Given the description of an element on the screen output the (x, y) to click on. 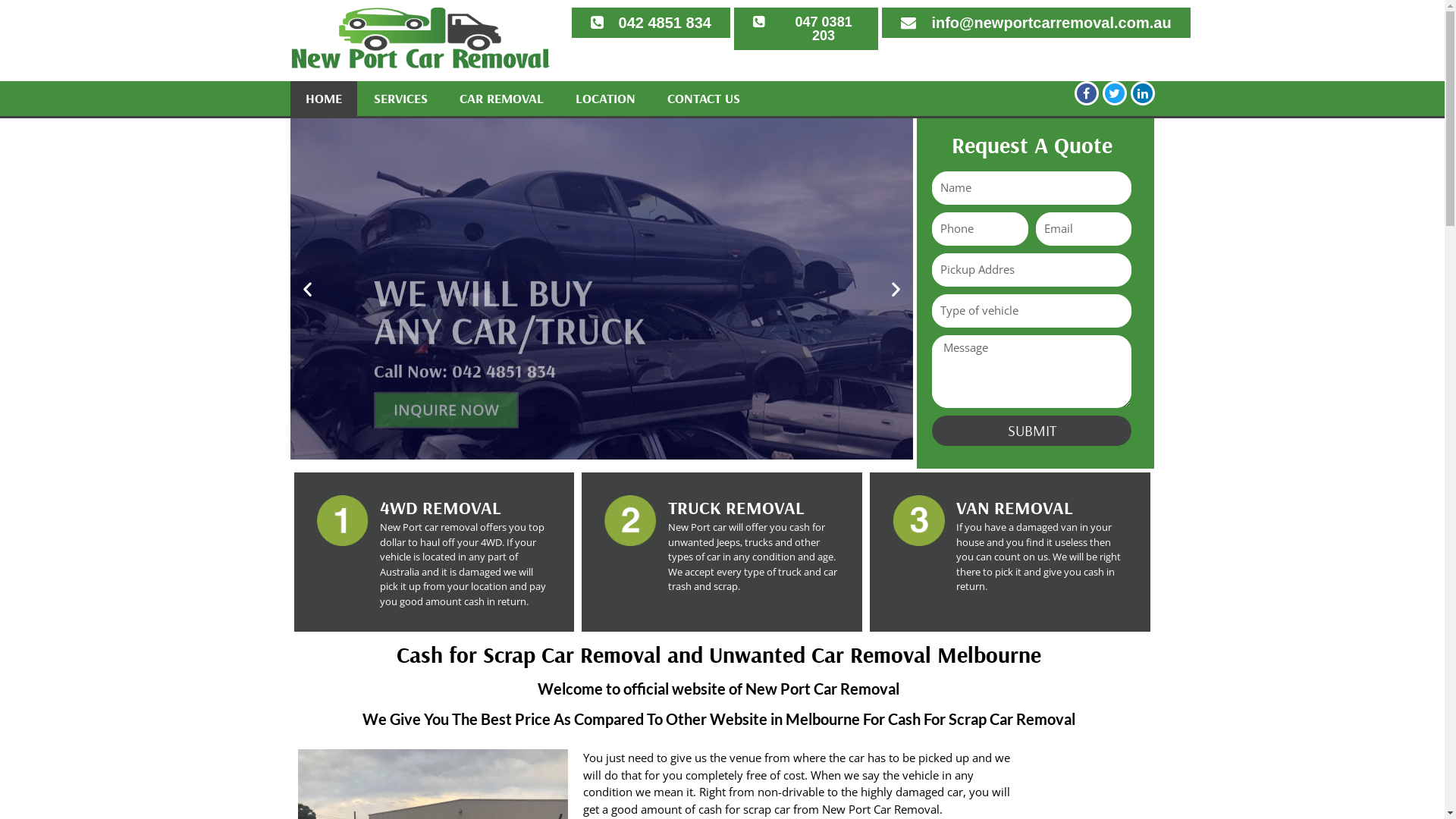
HOME Element type: text (322, 98)
042 4851 834 Element type: text (650, 22)
SERVICES Element type: text (399, 98)
047 0381 203 Element type: text (806, 28)
SUBMIT Element type: text (1031, 430)
CONTACT US Element type: text (703, 98)
info@newportcarremoval.com.au Element type: text (1035, 22)
LOCATION Element type: text (604, 98)
CAR REMOVAL Element type: text (501, 98)
